Given the description of an element on the screen output the (x, y) to click on. 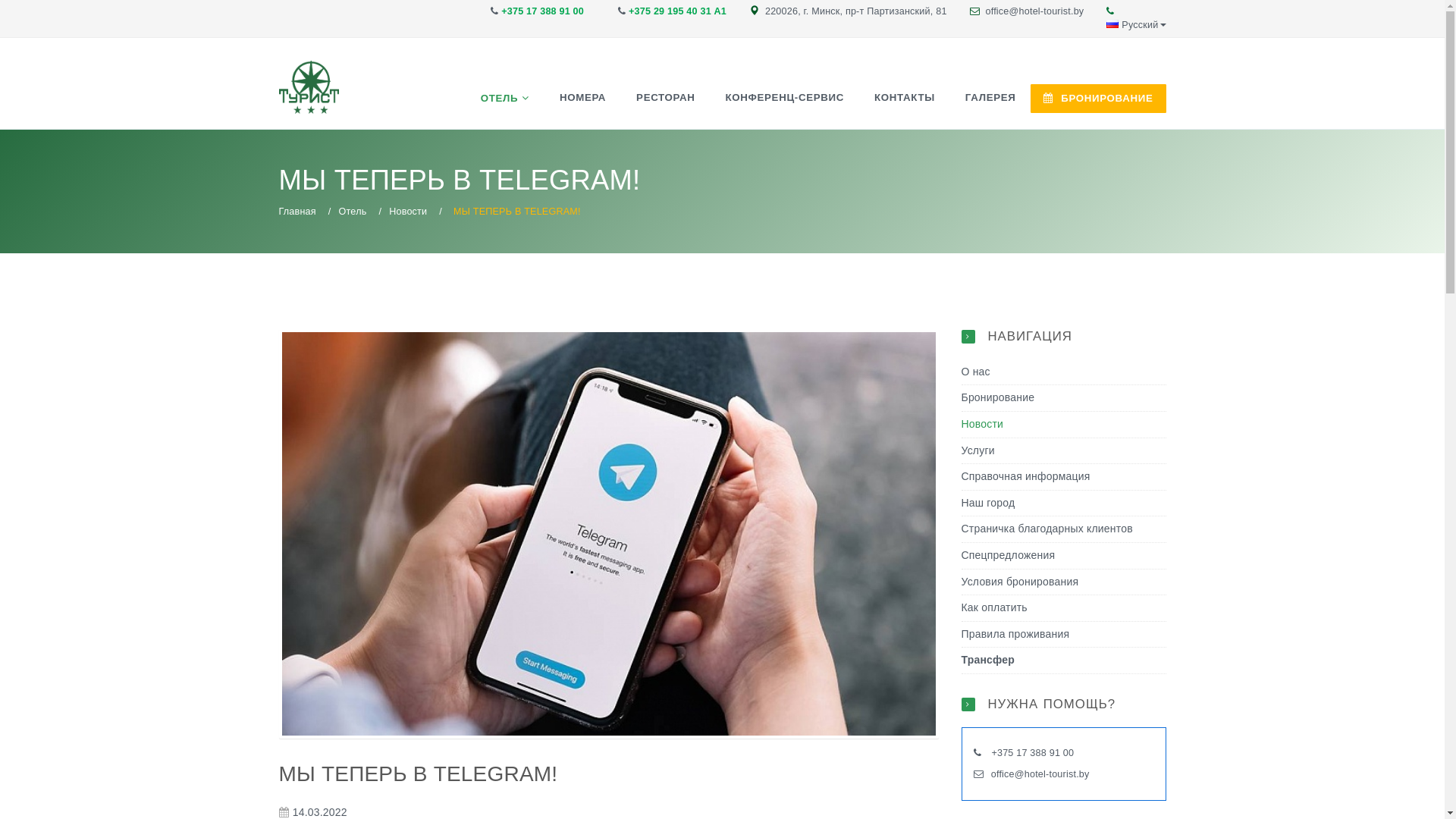
office@hotel-tourist.by Element type: text (1034, 11)
office@hotel-tourist.by Element type: text (1040, 773)
+375 17 3 Element type: text (1011, 752)
+375 17 Element type: text (520, 11)
